Given the description of an element on the screen output the (x, y) to click on. 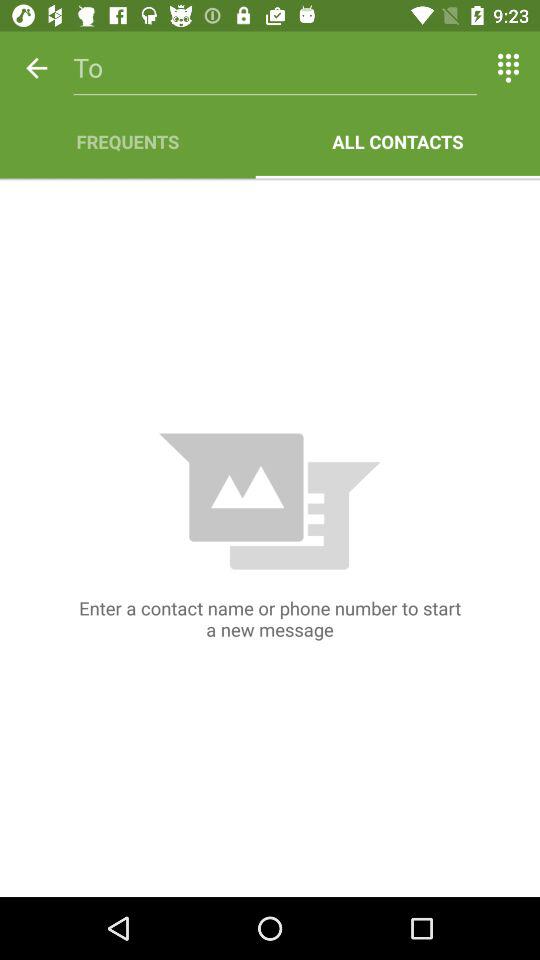
select icon to the right of the frequents (397, 141)
